Given the description of an element on the screen output the (x, y) to click on. 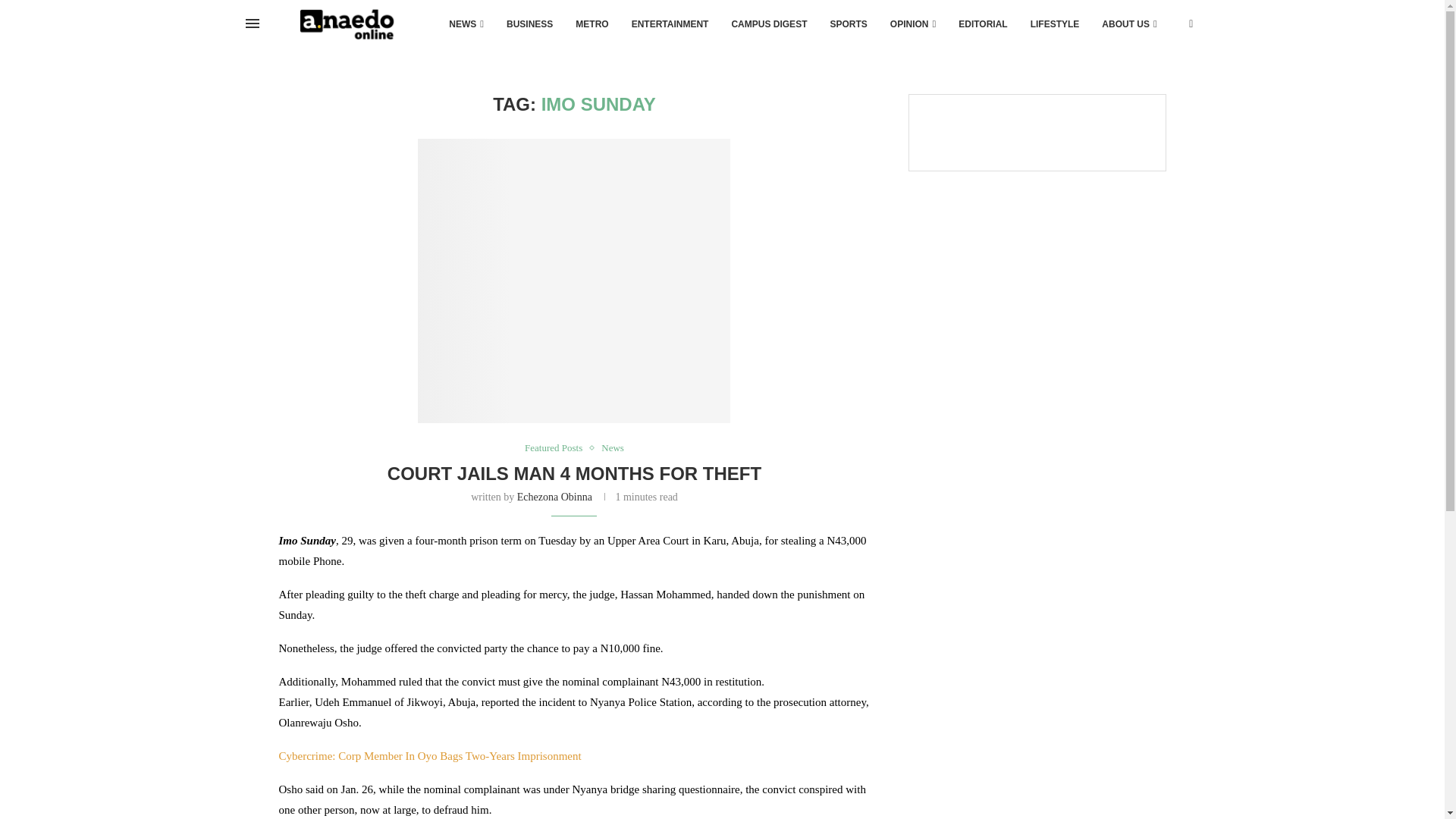
ENTERTAINMENT (670, 23)
ABOUT US (1128, 23)
CAMPUS DIGEST (768, 23)
OPINION (913, 23)
BUSINESS (529, 23)
METRO (592, 23)
LIFESTYLE (1054, 23)
Law-Court (573, 281)
SPORTS (847, 23)
EDITORIAL (982, 23)
